Given the description of an element on the screen output the (x, y) to click on. 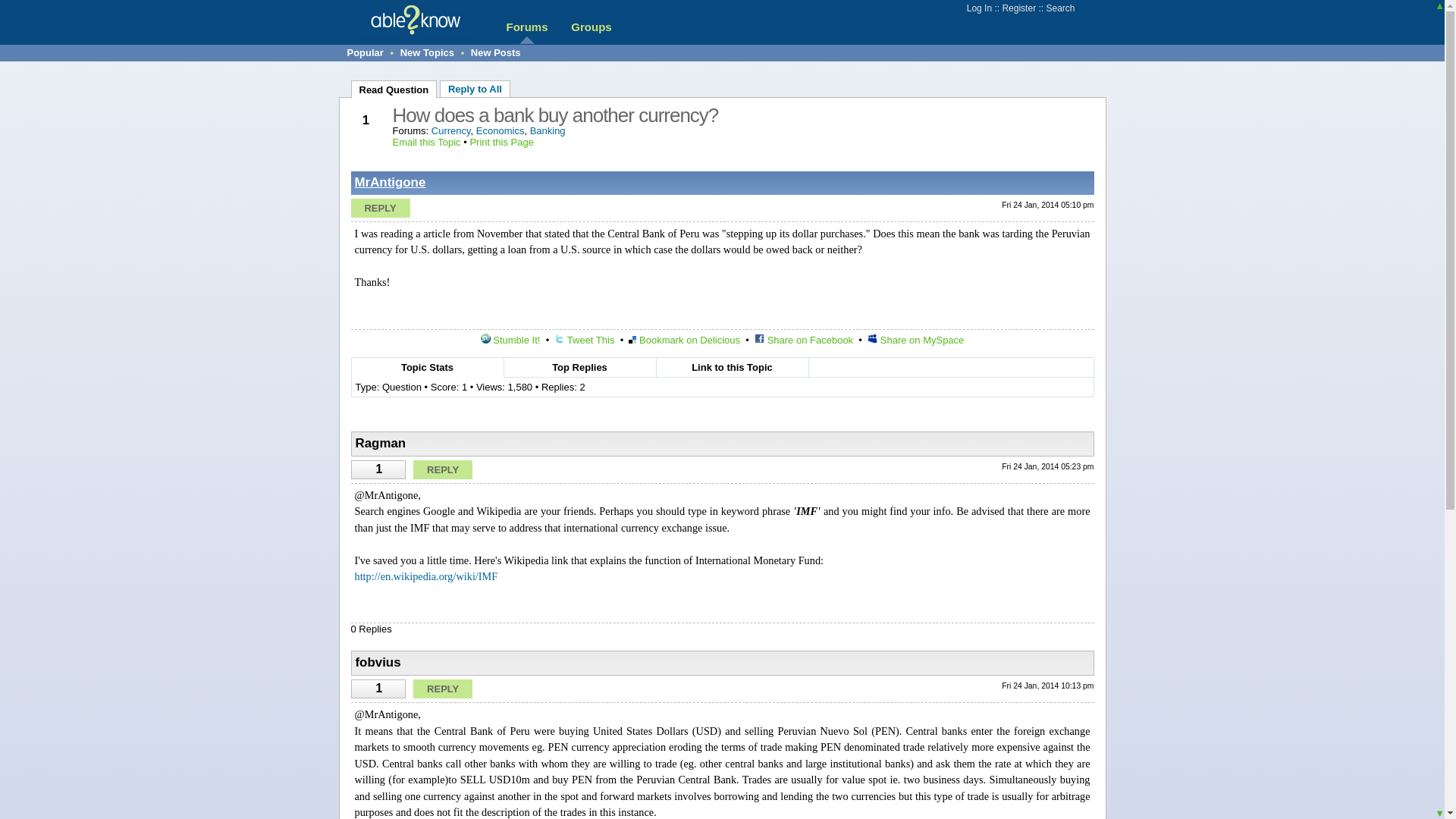
Popular (365, 52)
New Topics (427, 52)
MrAntigone (390, 182)
Bookmark on Delicious (683, 339)
Share on MySpace (915, 339)
Email this Topic (427, 142)
Reply (442, 469)
Log In (978, 8)
Currency Forum (450, 130)
Share on Facebook (803, 339)
Banking (547, 130)
Log In (978, 8)
Print this Page (501, 142)
Groups (590, 26)
Reply (379, 208)
